Given the description of an element on the screen output the (x, y) to click on. 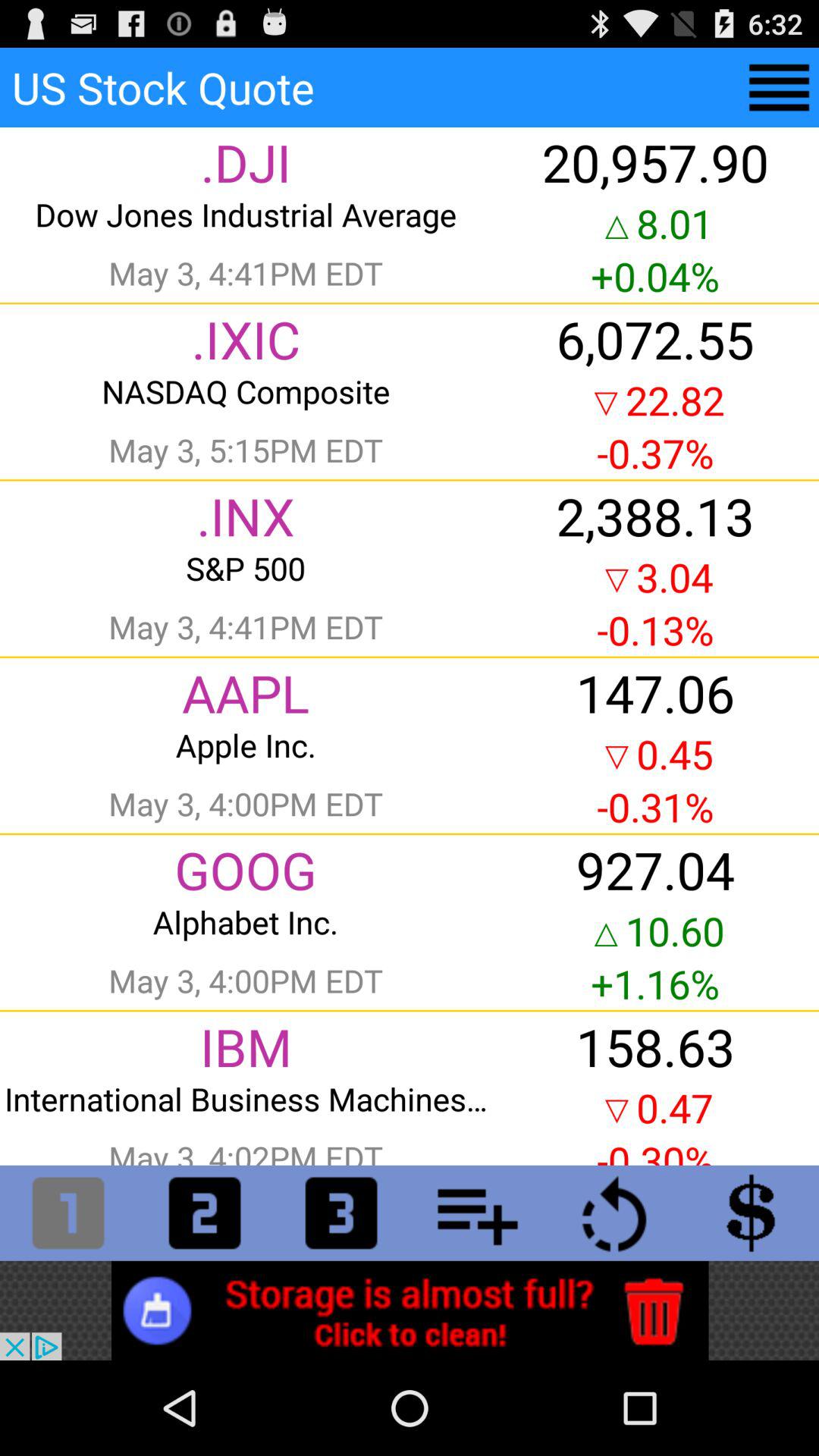
quote (68, 1212)
